Given the description of an element on the screen output the (x, y) to click on. 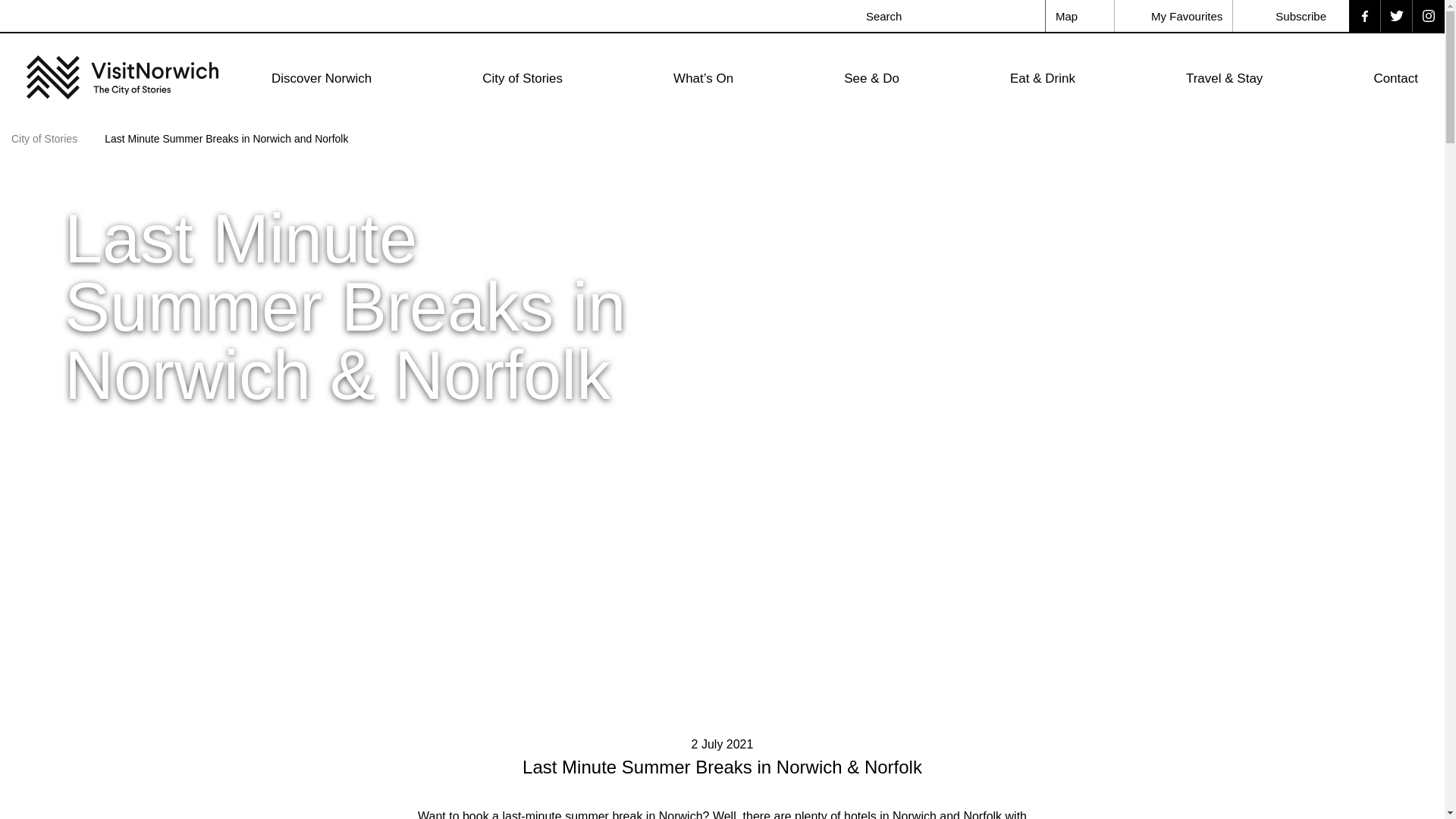
Search (1029, 15)
City of Stories (521, 78)
My Favourites (1174, 15)
Subscribe (1291, 15)
Map (1080, 15)
Search (1029, 15)
Discover Norwich (320, 78)
Search (1029, 15)
